Given the description of an element on the screen output the (x, y) to click on. 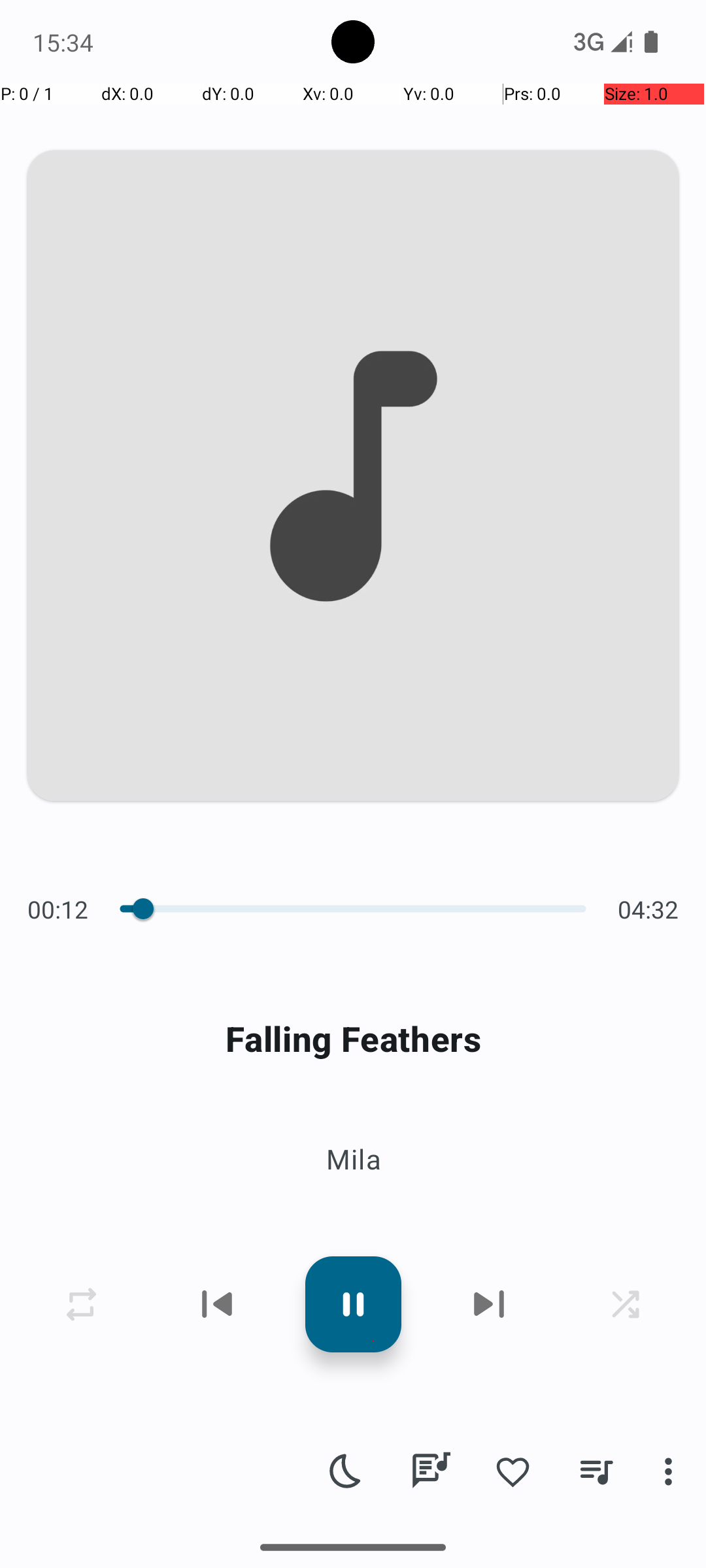
00:12 Element type: android.widget.TextView (61, 908)
04:32 Element type: android.widget.TextView (643, 908)
Falling Feathers Element type: android.widget.TextView (352, 1038)
Mila Element type: android.widget.TextView (352, 1158)
Sleep timer Element type: android.widget.Button (346, 1471)
Lyrics Element type: android.widget.Button (429, 1471)
Add to favorites Element type: android.widget.Button (512, 1471)
Now playing queue Element type: android.widget.Button (595, 1471)
Value, 7000 Element type: android.widget.SeekBar (136, 908)
Mohammad Element type: android.widget.TextView (147, 1503)
